Given the description of an element on the screen output the (x, y) to click on. 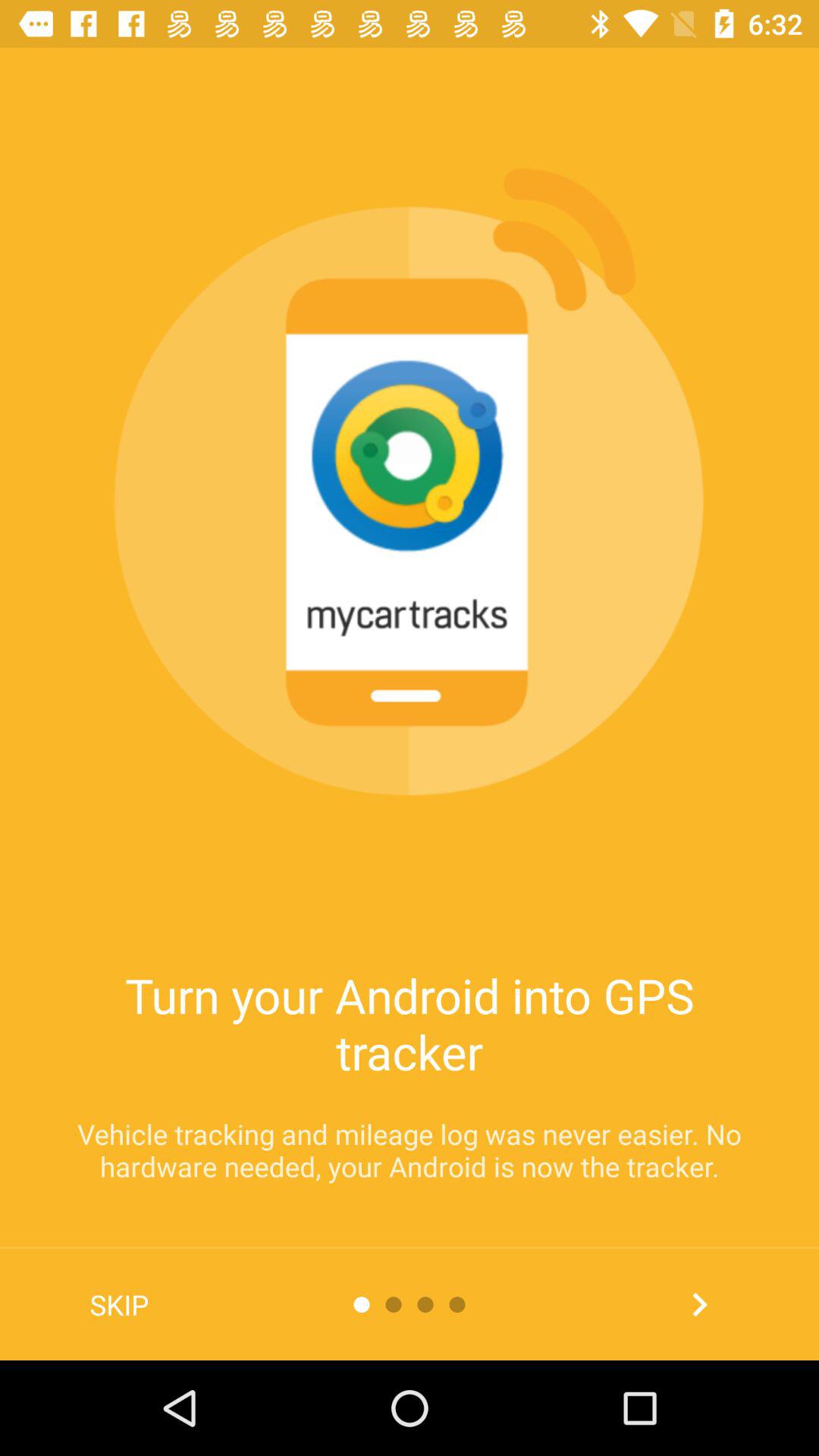
press the item at the bottom right corner (699, 1304)
